Given the description of an element on the screen output the (x, y) to click on. 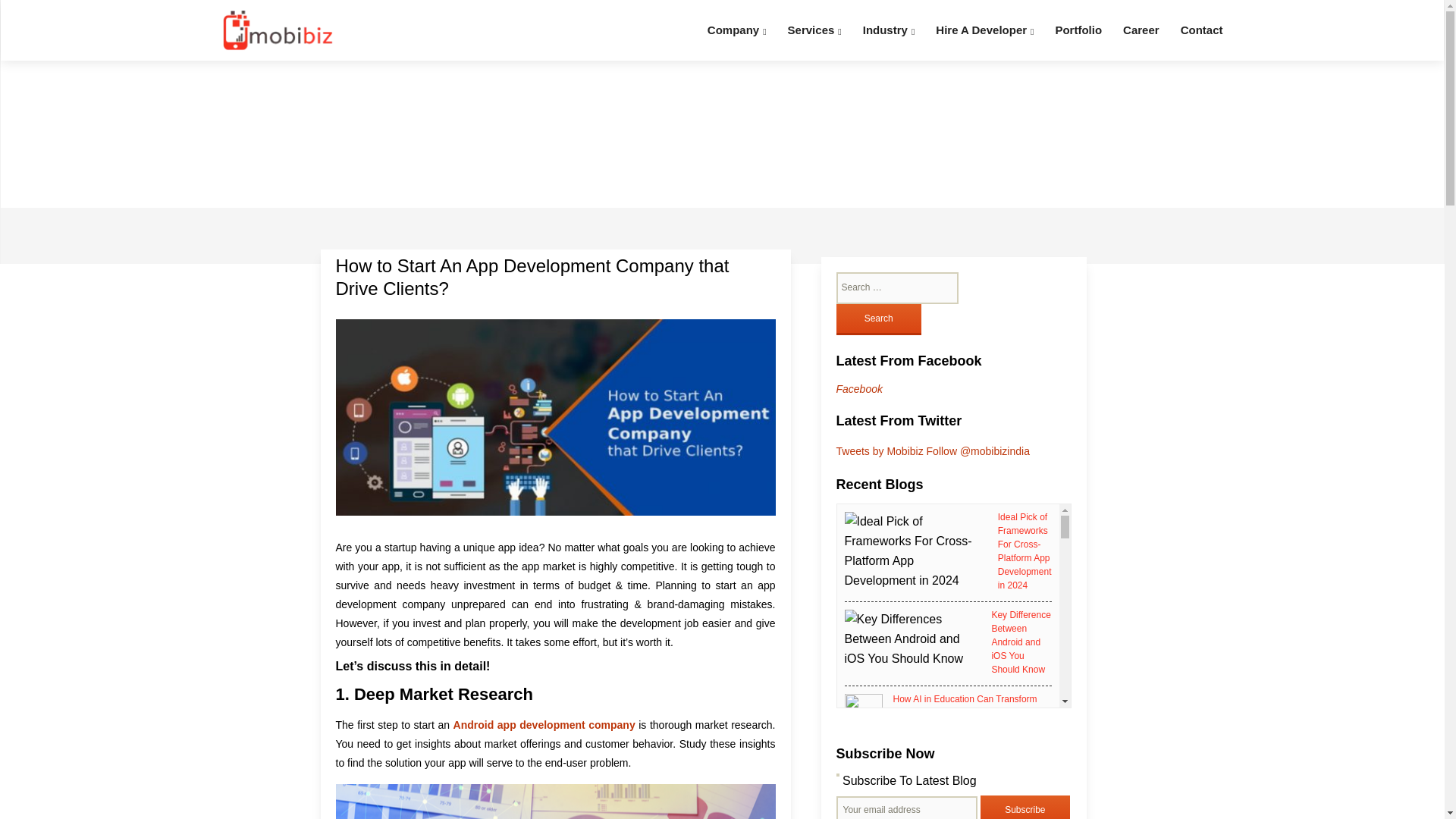
Key Difference Between Android and iOS You Should Know (1021, 641)
Company (737, 30)
Search (877, 318)
Subscribe (1024, 807)
Best iOS Programming language for app development in 2024 (1019, 811)
Search (877, 318)
Services (814, 30)
A Comprehensive Guide to IoT in Banking in 2024 (997, 759)
